Given the description of an element on the screen output the (x, y) to click on. 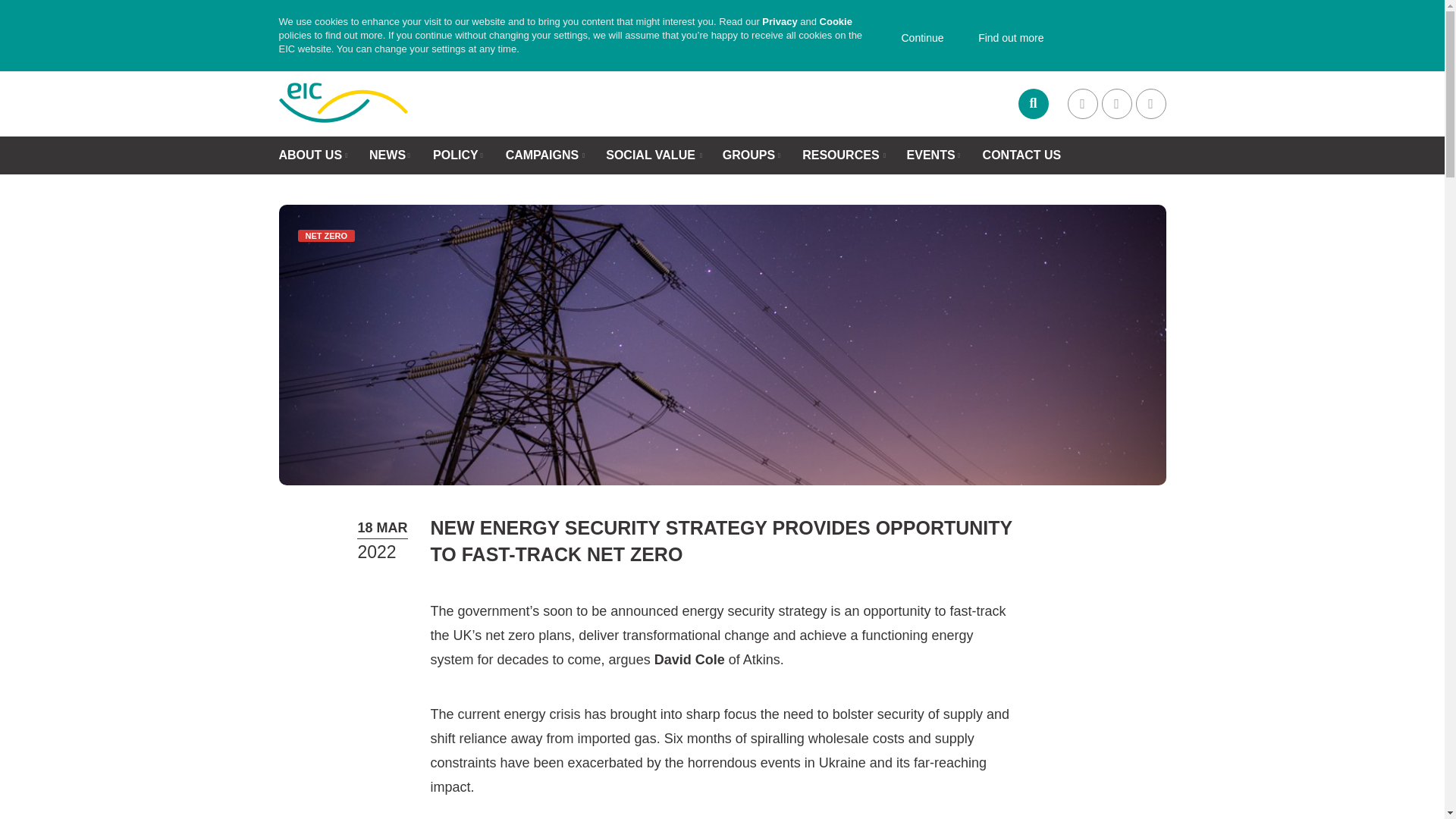
POLICY (455, 155)
Privacy (778, 21)
CAMPAIGNS (542, 155)
Find out more (1002, 40)
Continue (914, 40)
NEWS (387, 155)
SOCIAL VALUE (650, 155)
ABOUT US (310, 155)
GROUPS (748, 155)
Cookie (835, 21)
